Given the description of an element on the screen output the (x, y) to click on. 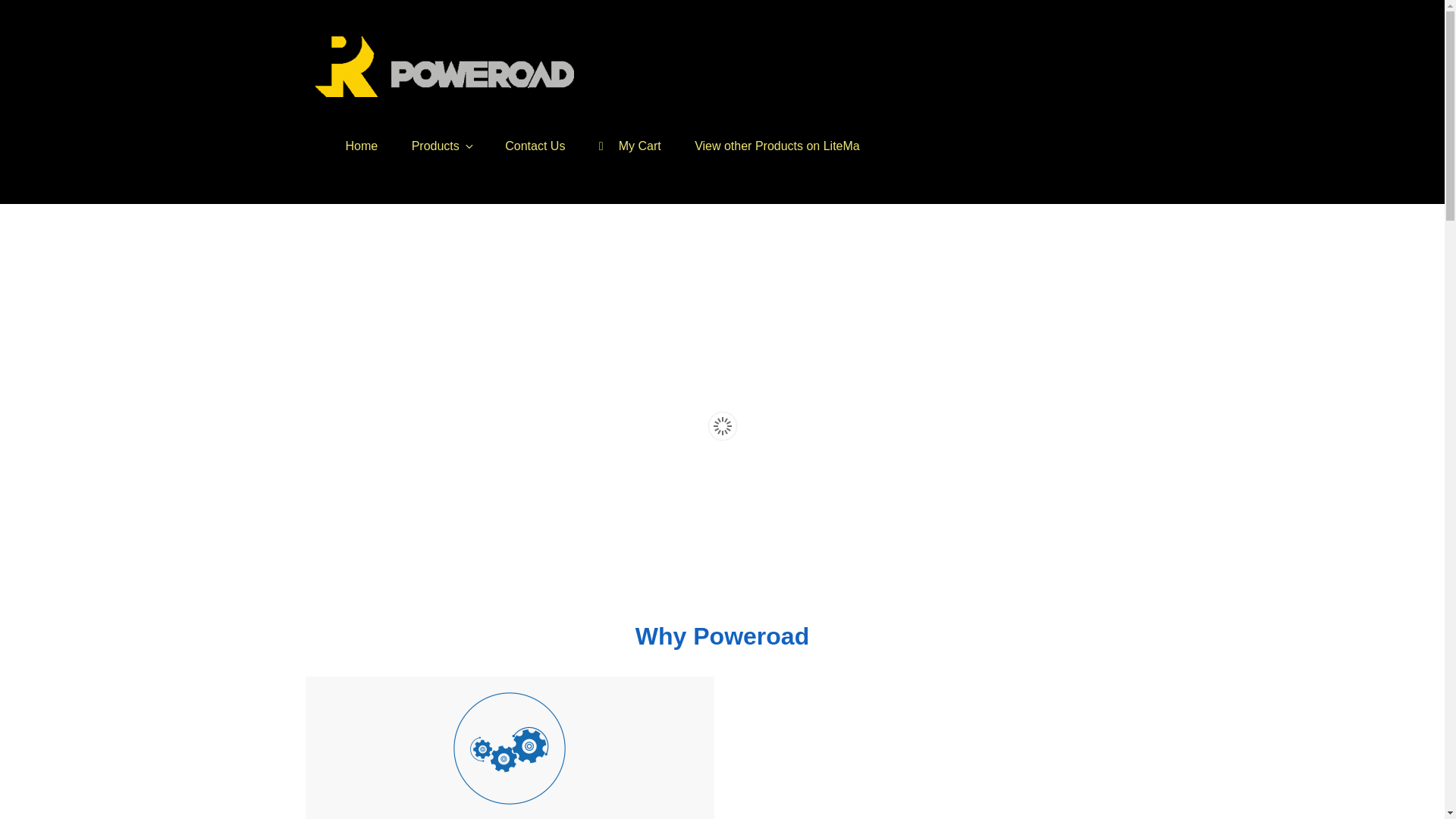
Products Element type: text (441, 146)
POWEROAD Element type: text (408, 118)
My Cart Element type: text (629, 146)
Contact Us Element type: text (534, 146)
View other Products on LiteMa Element type: text (777, 146)
Home Element type: text (361, 146)
